Given the description of an element on the screen output the (x, y) to click on. 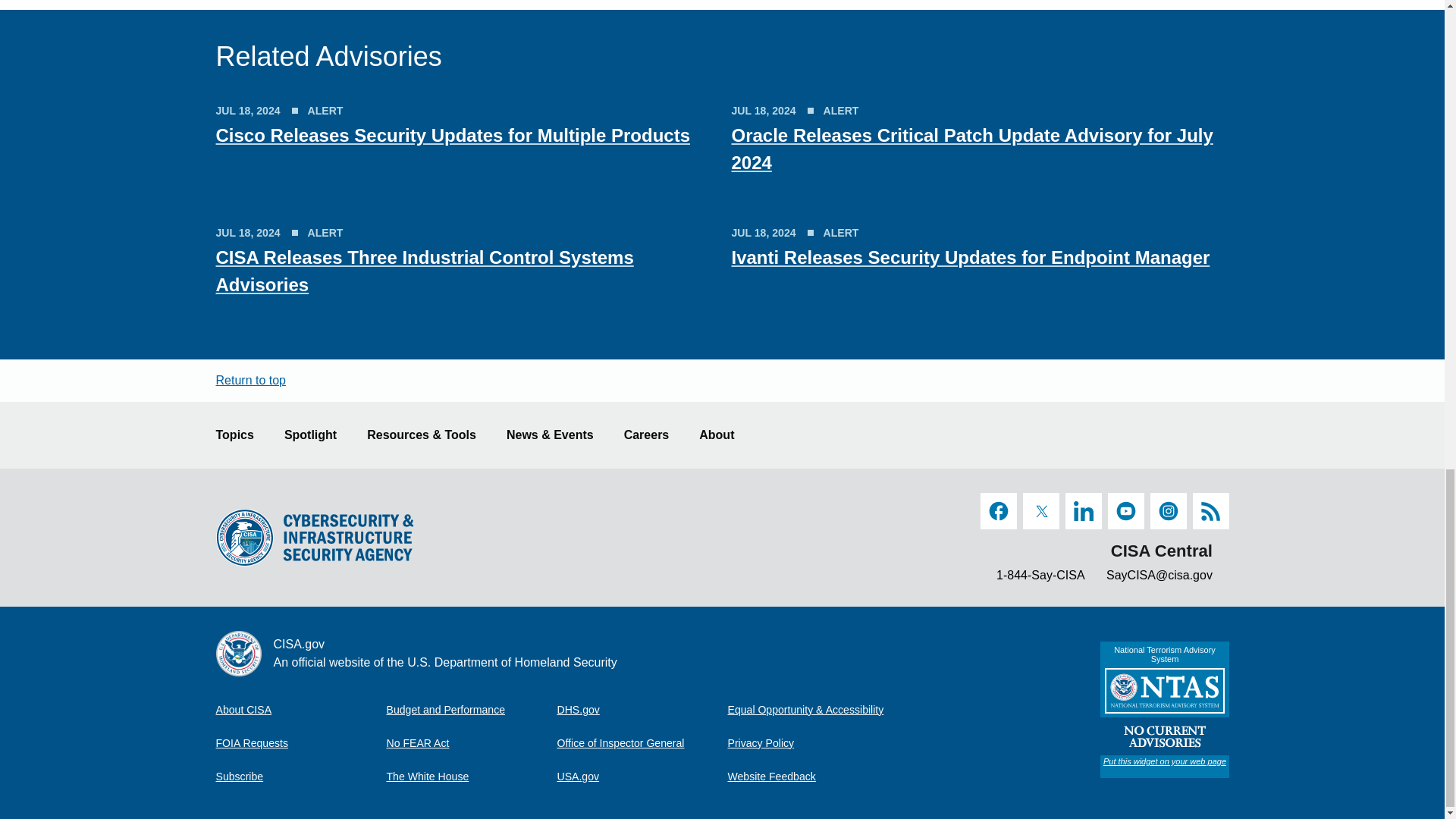
FOIA Requests (300, 743)
Oracle Releases Critical Patch Update Advisory for July 2024 (971, 148)
Budget and Performance (472, 709)
Office of Inspector General (641, 743)
Cisco Releases Security Updates for Multiple Products (452, 135)
No FEAR Act Reporting (472, 743)
USA.gov (641, 776)
Privacy Policy (813, 743)
Ivanti Releases Security Updates for Endpoint Manager (969, 257)
CISA Releases Three Industrial Control Systems Advisories (424, 270)
Department of Homeland Security (641, 709)
About CISA (300, 709)
Subscribe to Email Updates (300, 776)
The White House (472, 776)
